Given the description of an element on the screen output the (x, y) to click on. 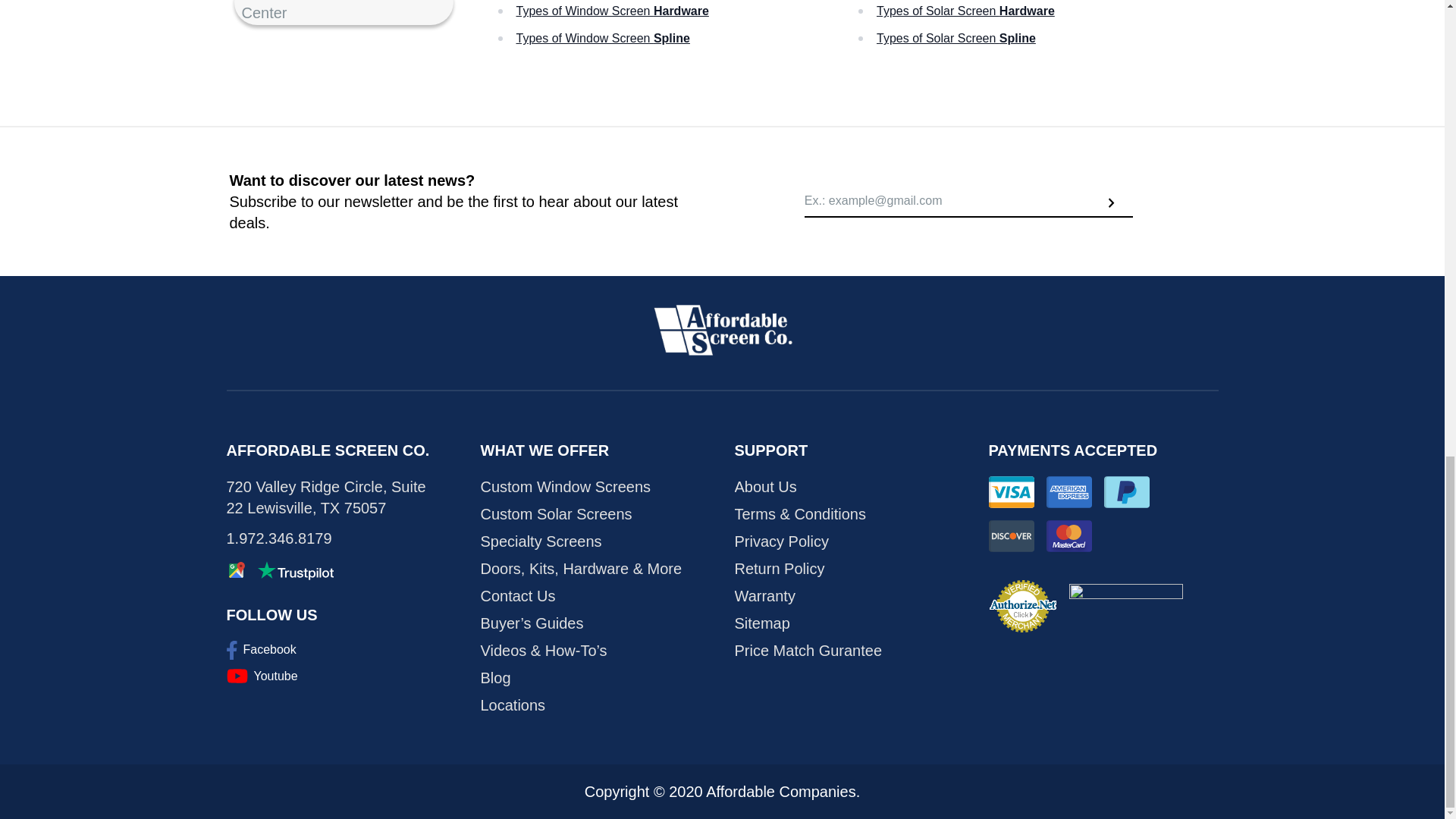
Affordable Window Screens (721, 329)
Show map (234, 570)
